Given the description of an element on the screen output the (x, y) to click on. 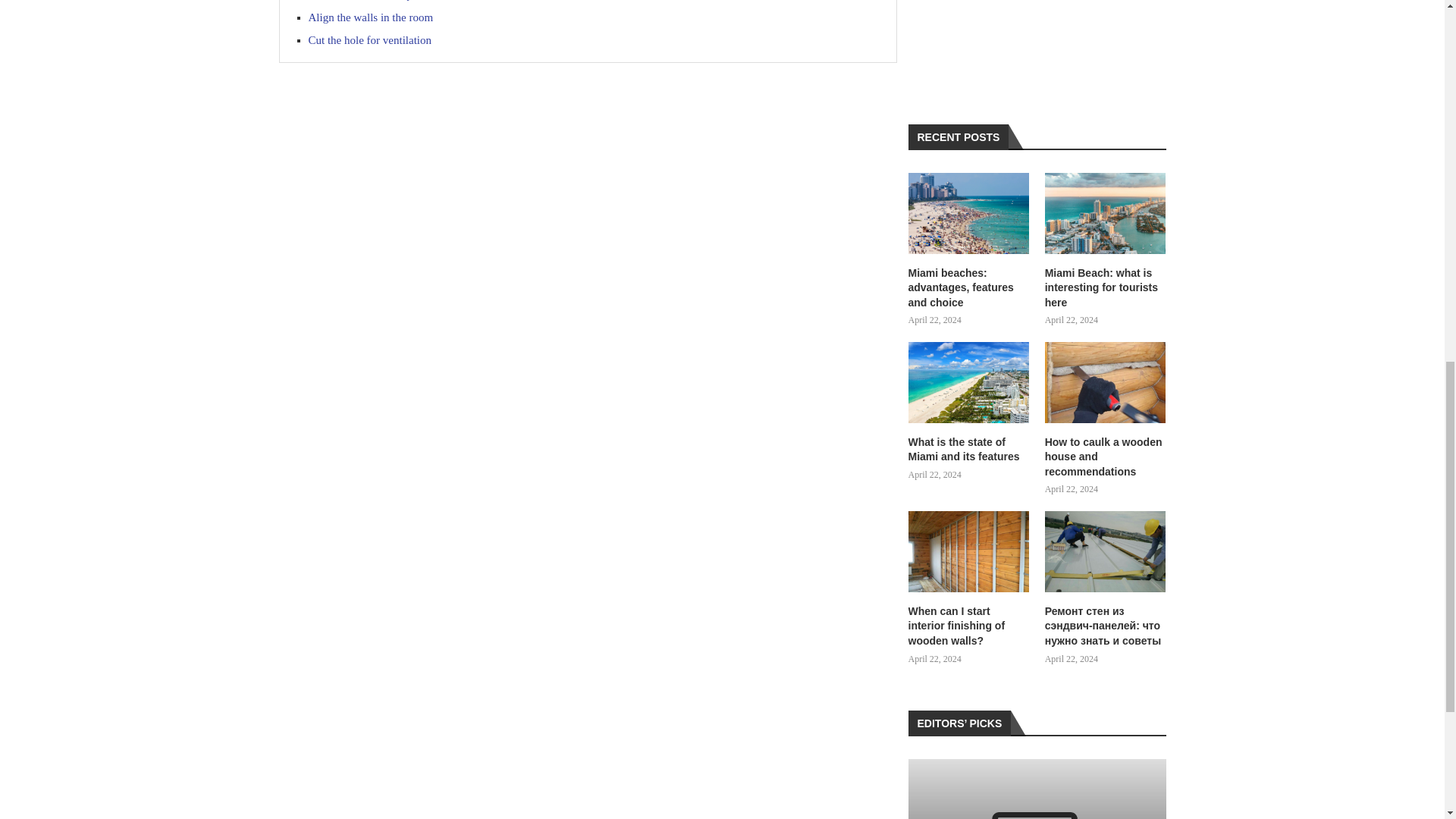
When can I start interior finishing of wooden walls? (968, 626)
What is the state of Miami and its features (968, 382)
Miami beaches: advantages, features and choice (968, 288)
What is the state of Miami and its features (968, 449)
Miami Beach: what is interesting for tourists here (1105, 212)
When can I start interior finishing of wooden walls? (968, 551)
How to caulk a wooden house and recommendations (1105, 382)
Miami Beach: what is interesting for tourists here (1105, 288)
Miami beaches: advantages, features and choice (968, 212)
How to caulk a wooden house and recommendations (1105, 456)
